Given the description of an element on the screen output the (x, y) to click on. 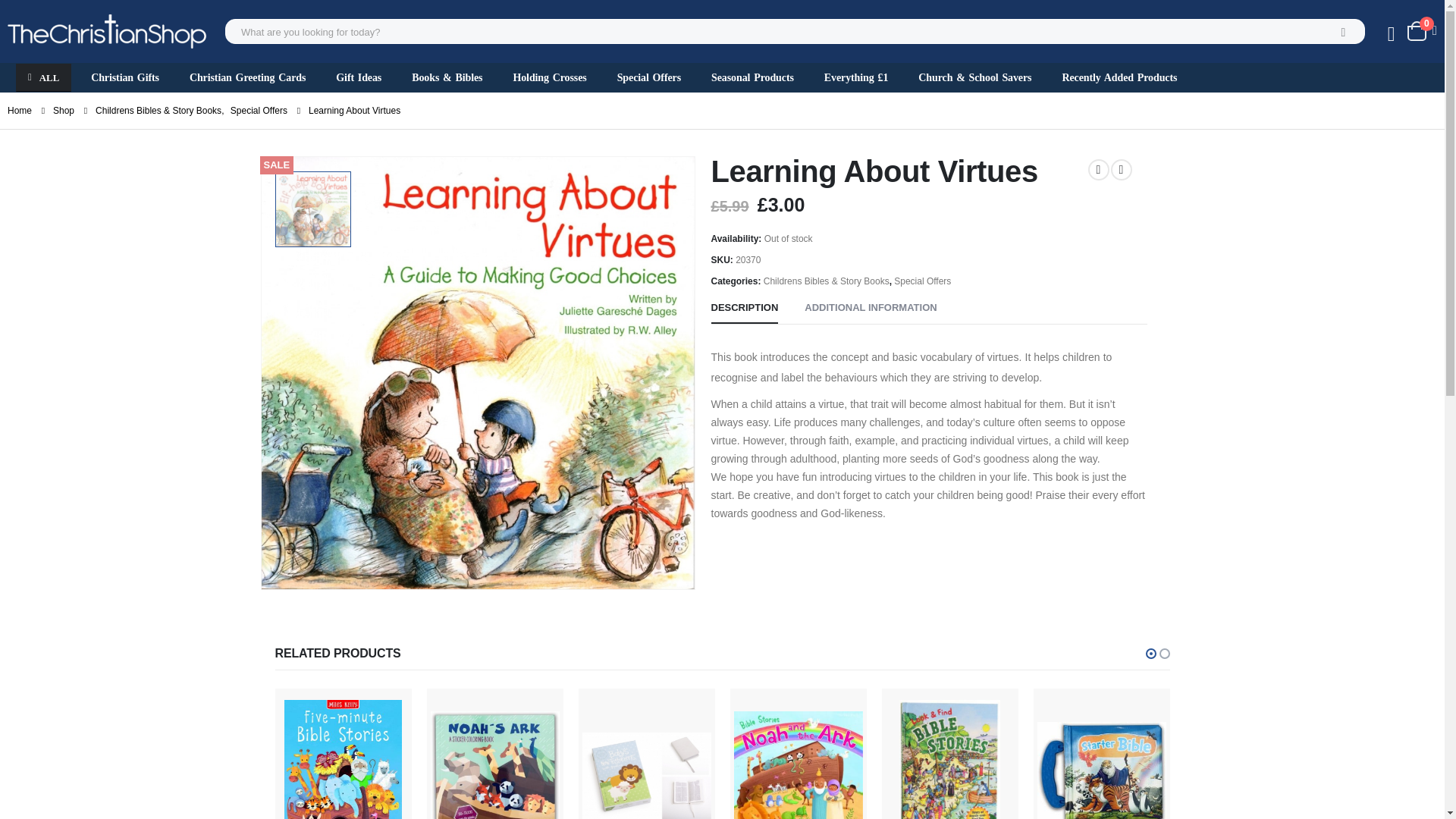
Special Offers (258, 110)
Go to Home Page (19, 110)
Home (19, 110)
Christian Greeting Cards (247, 77)
Shop (63, 110)
Gift Ideas (358, 77)
Search (1343, 32)
Holding Crosses (549, 77)
ALL (43, 77)
Christian Gifts (124, 77)
My Account (1390, 34)
Recently Added Products (1119, 77)
Seasonal Products (752, 77)
Special Offers (921, 280)
Special Offers (648, 77)
